Given the description of an element on the screen output the (x, y) to click on. 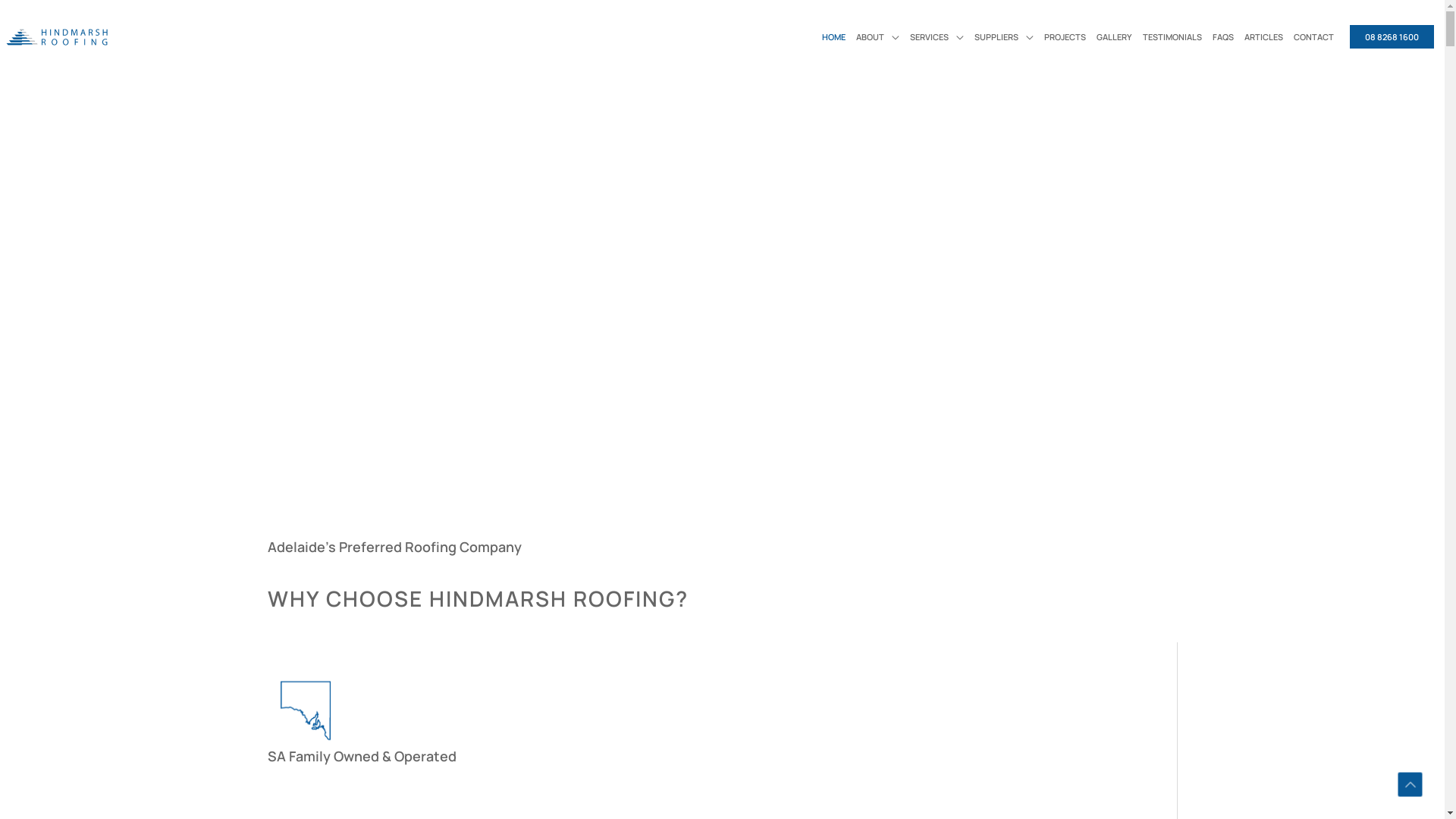
GALLERY Element type: text (1114, 36)
FAQS Element type: text (1223, 36)
ABOUT Element type: text (877, 36)
CONTACT Element type: text (1313, 36)
08 8268 1600 Element type: text (1391, 36)
HOME Element type: text (833, 36)
SUPPLIERS Element type: text (1003, 36)
PROJECTS Element type: text (1064, 36)
SERVICES Element type: text (936, 36)
TESTIMONIALS Element type: text (1172, 36)
ARTICLES Element type: text (1263, 36)
final-icon Element type: hover (304, 710)
